Given the description of an element on the screen output the (x, y) to click on. 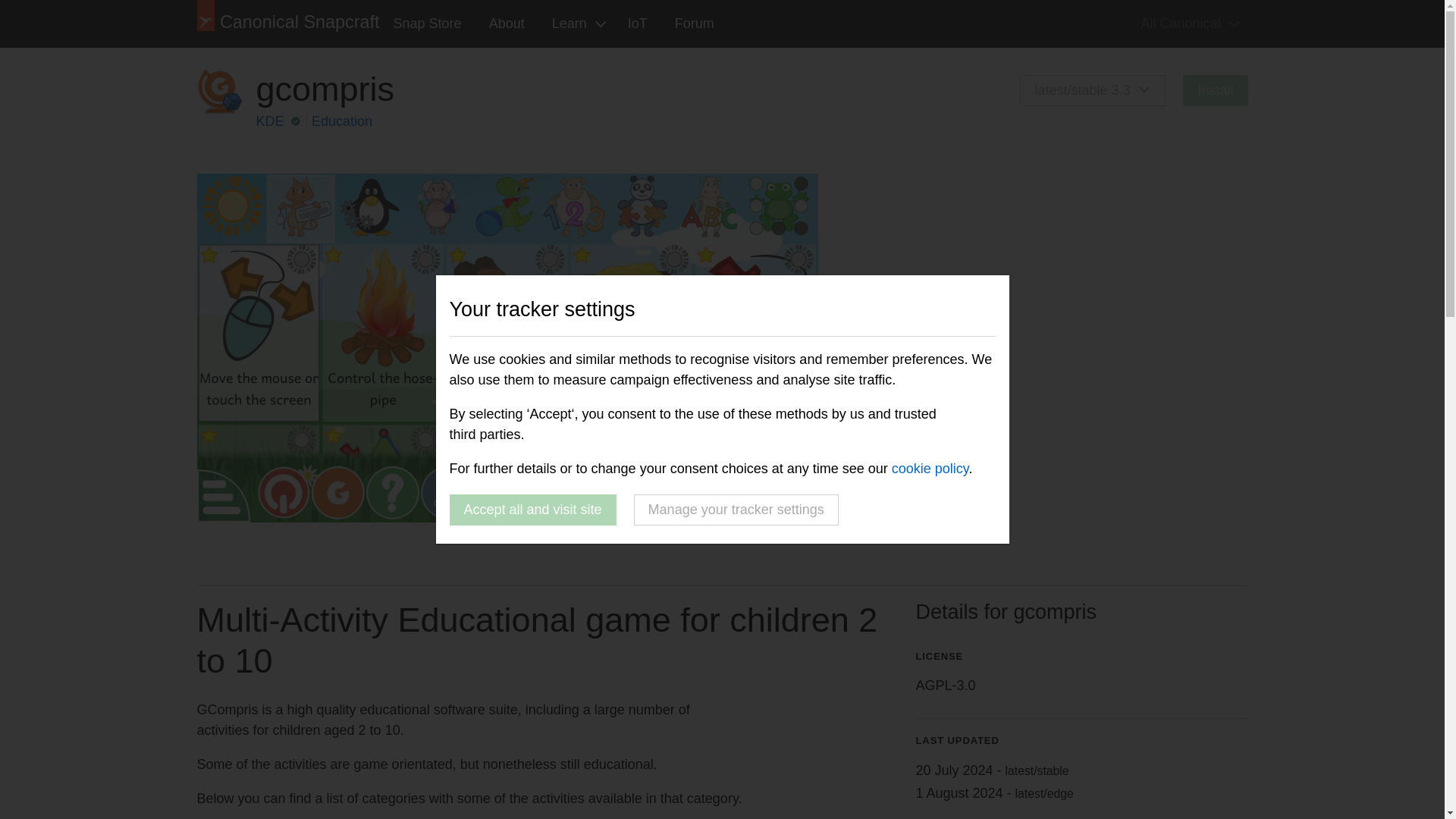
Forum (694, 23)
Learn (576, 23)
Snap Store (428, 23)
IoT (637, 23)
Canonical Snapcraft (288, 23)
View all snaps from KDE (272, 120)
About (507, 23)
